Given the description of an element on the screen output the (x, y) to click on. 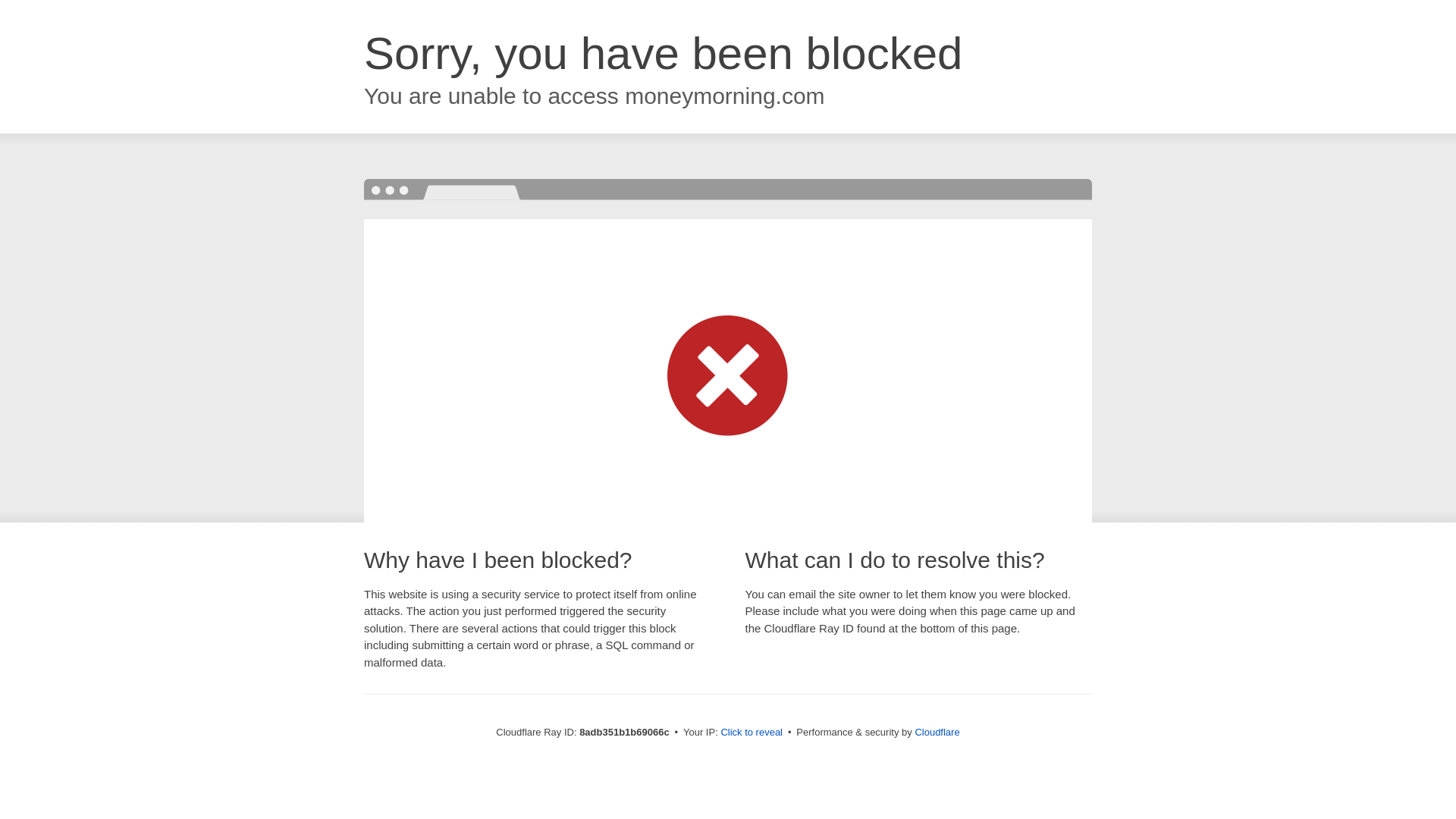
Cloudflare (936, 731)
Click to reveal (751, 732)
